Given the description of an element on the screen output the (x, y) to click on. 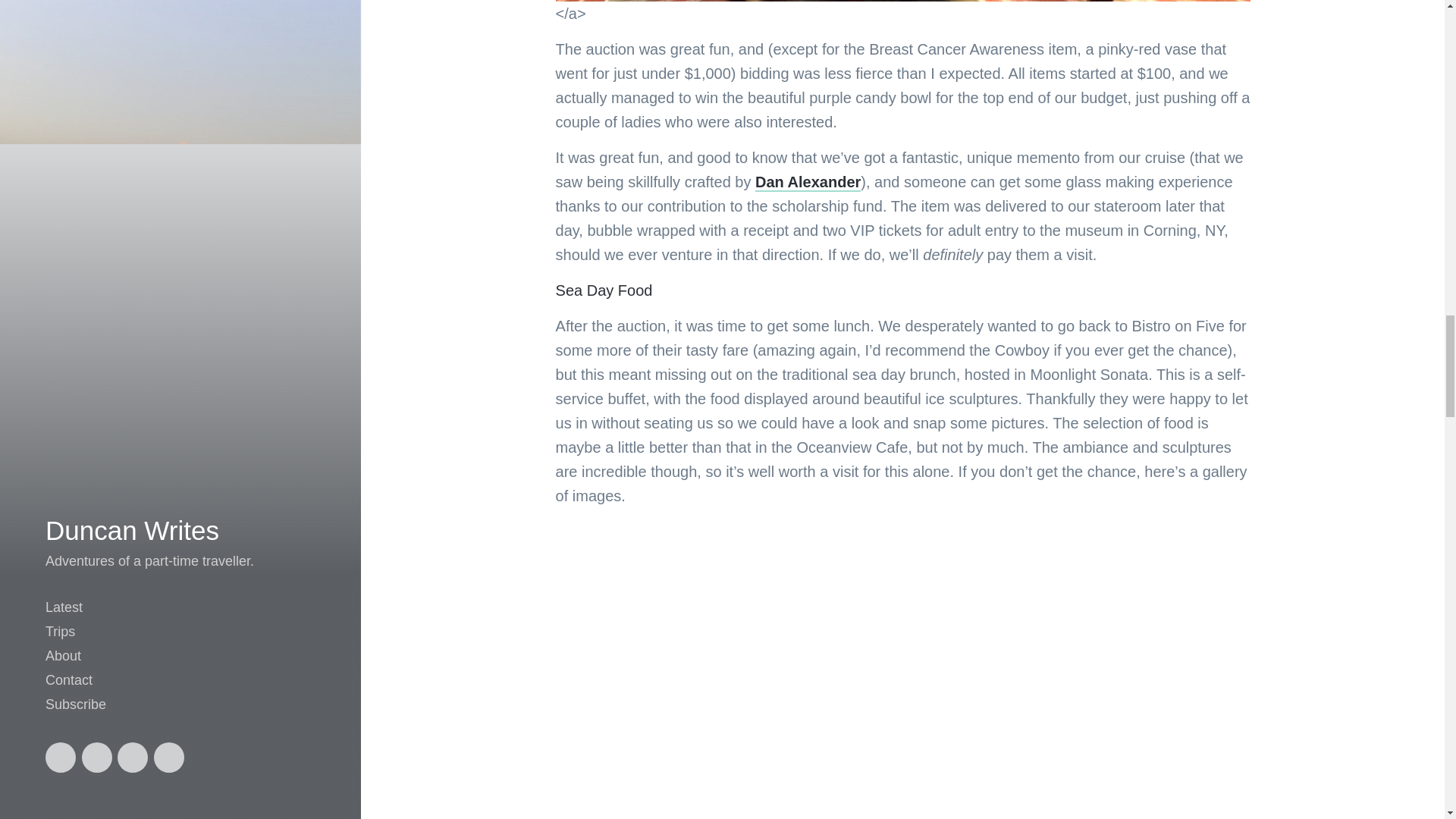
Dan Alexander (807, 182)
